Given the description of an element on the screen output the (x, y) to click on. 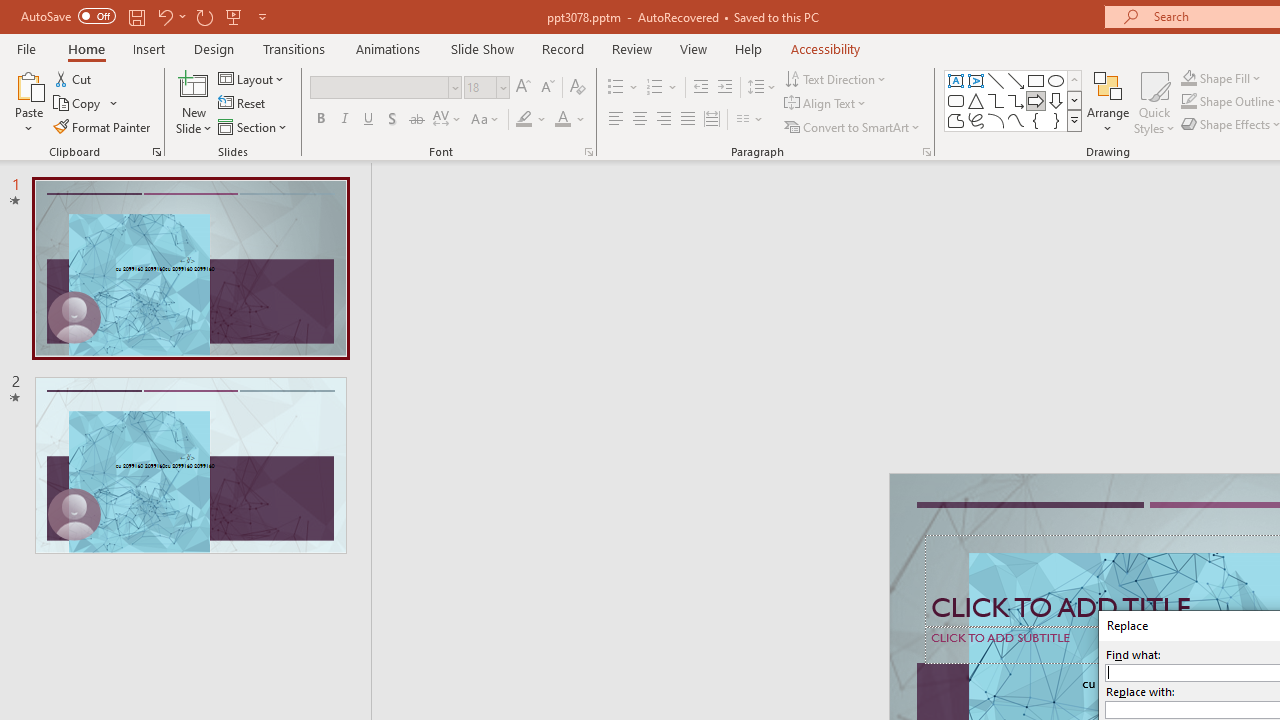
Line Spacing (762, 87)
Oval (1055, 80)
Freeform: Shape (955, 120)
Format Painter (103, 126)
Connector: Elbow Arrow (1016, 100)
Clear Formatting (577, 87)
Connector: Elbow (995, 100)
Font Color Red (562, 119)
